Given the description of an element on the screen output the (x, y) to click on. 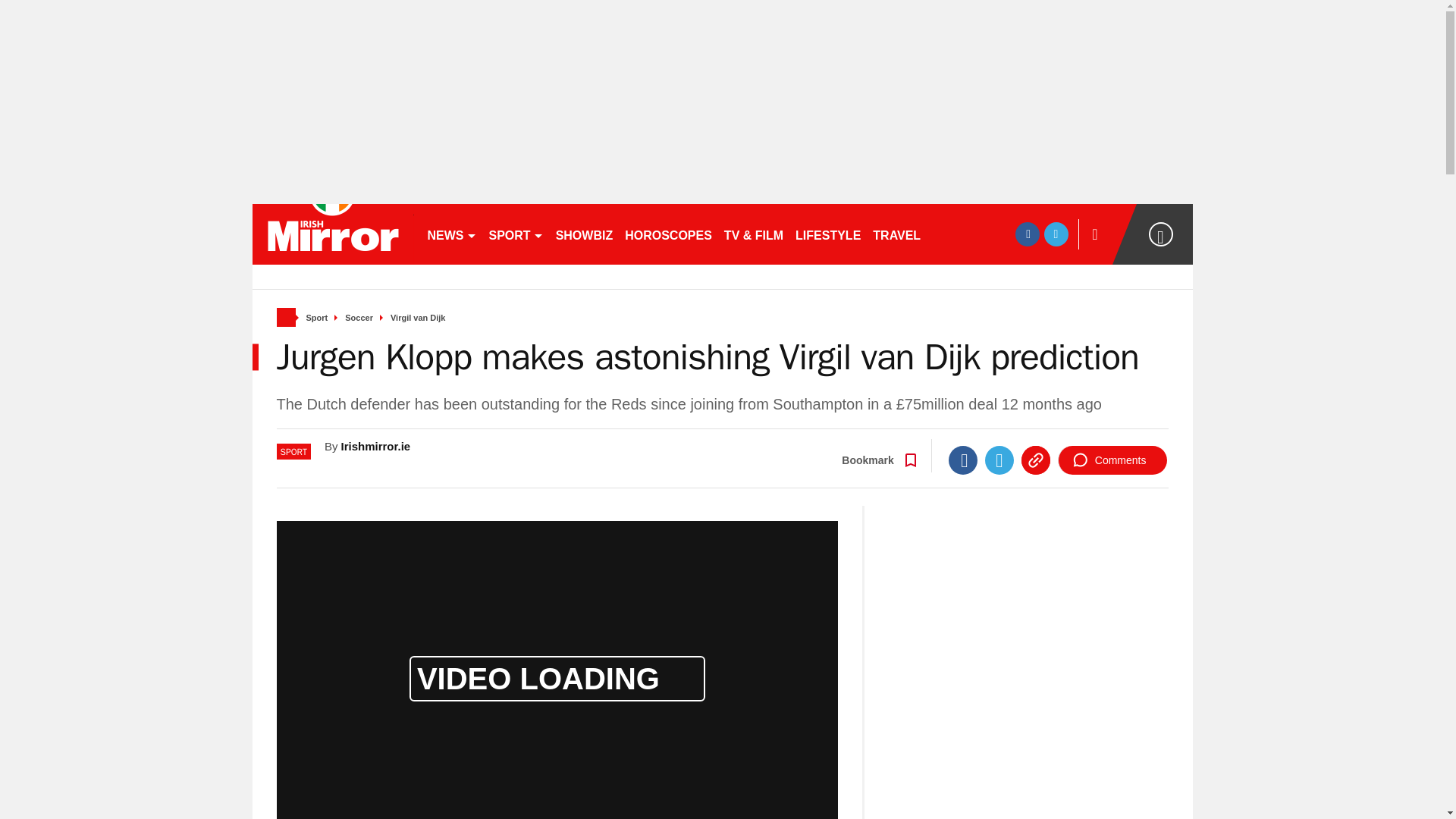
TRAVEL (896, 233)
Comments (1112, 460)
facebook (1026, 233)
SPORT (514, 233)
Twitter (999, 460)
NEWS (452, 233)
twitter (1055, 233)
irishmirror (332, 233)
Facebook (962, 460)
SHOWBIZ (585, 233)
